Given the description of an element on the screen output the (x, y) to click on. 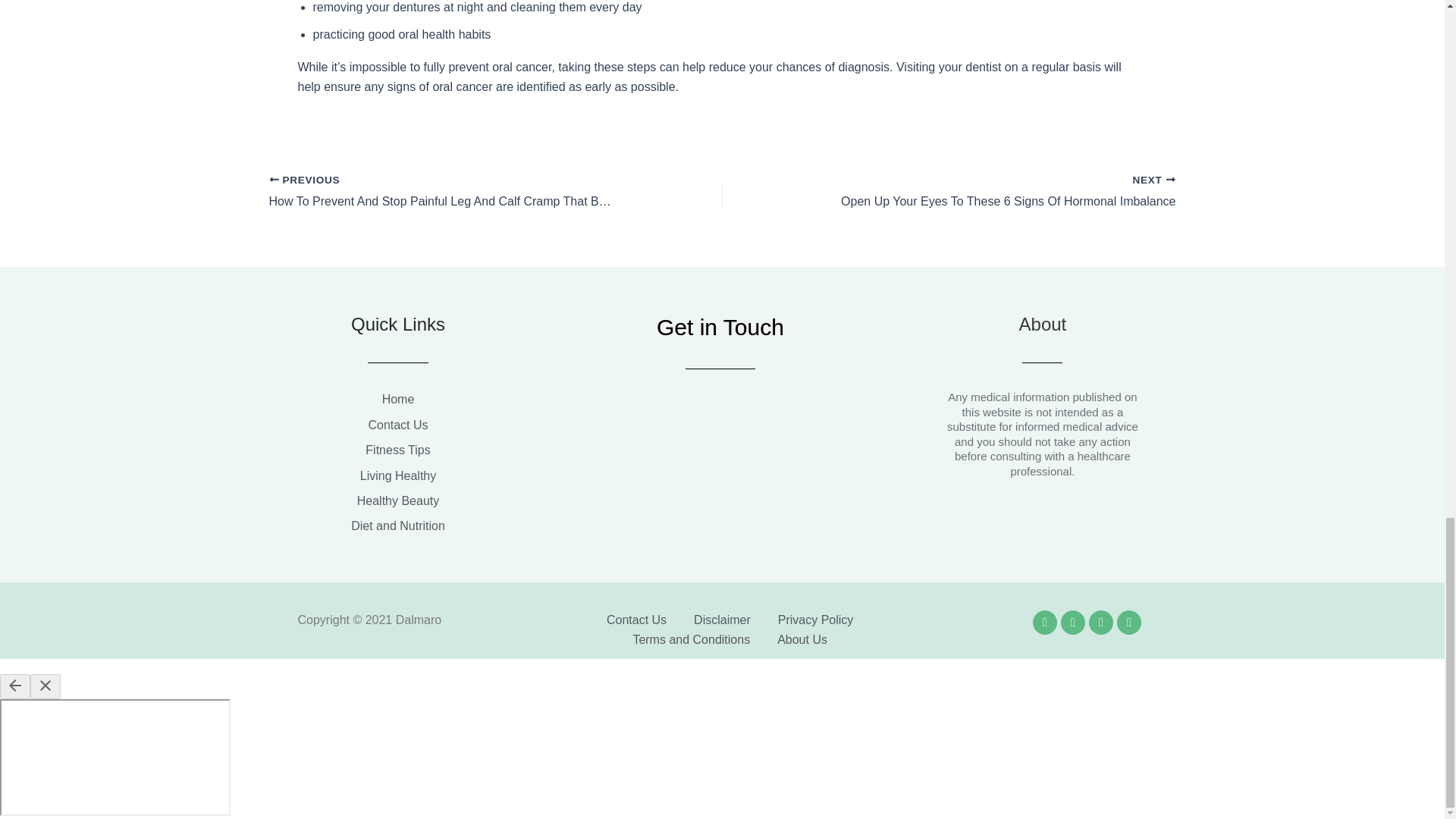
Open Up Your Eyes To These 6 Signs Of Hormonal Imbalance (992, 192)
About Us (802, 639)
Privacy Policy (815, 619)
Home (397, 399)
Healthy Beauty (397, 501)
Living Healthy (397, 476)
Terms and Conditions (690, 639)
Diet and Nutrition (397, 526)
Fitness Tips (397, 450)
